Given the description of an element on the screen output the (x, y) to click on. 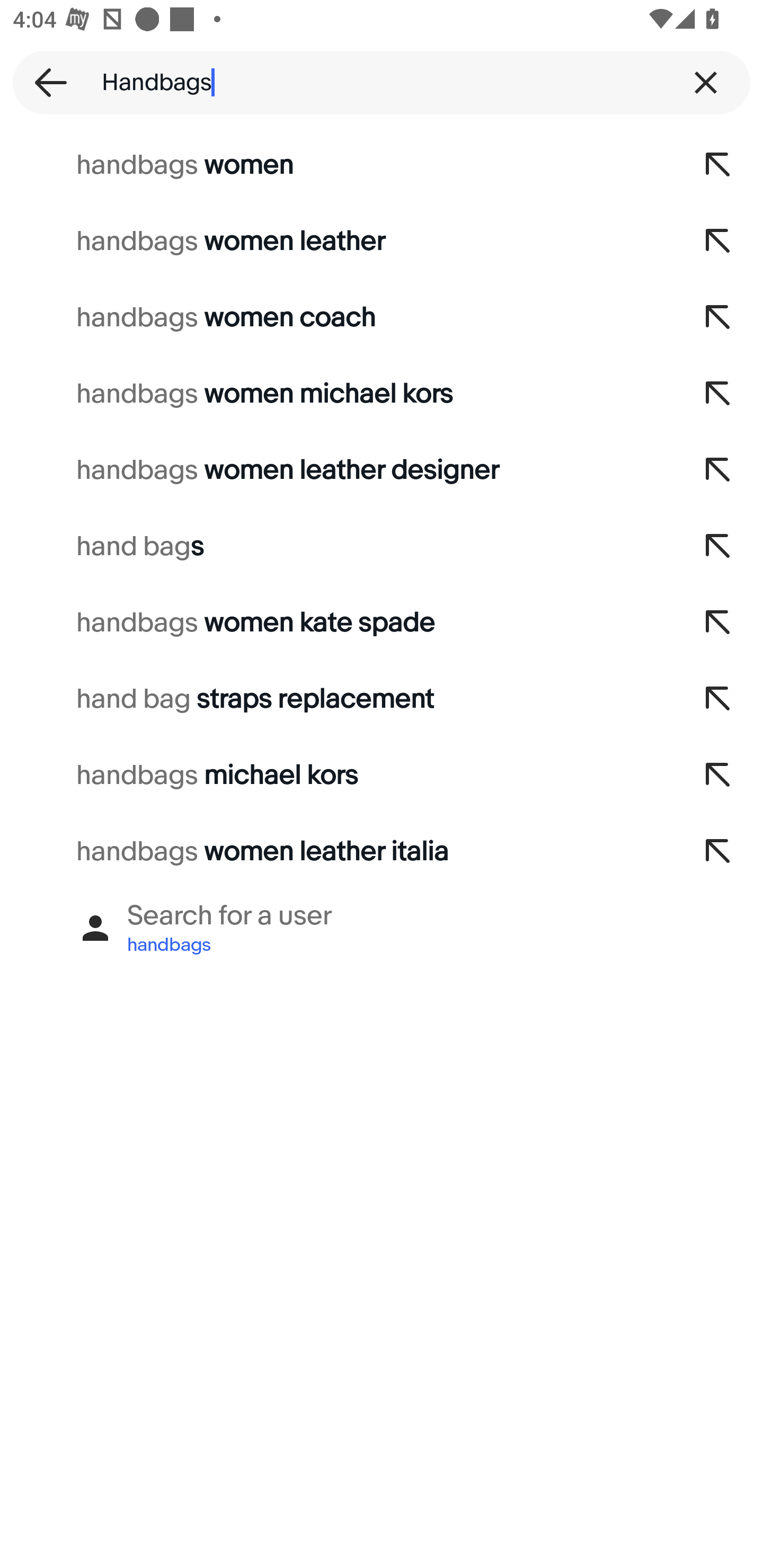
Back (44, 82)
Clear query (705, 82)
Handbags (381, 82)
handbags women (336, 165)
Add to search query,handbags women (718, 165)
handbags women leather (336, 241)
Add to search query,handbags women leather (718, 241)
handbags women coach (336, 317)
Add to search query,handbags women coach (718, 317)
handbags women michael kors (336, 393)
Add to search query,handbags women michael kors (718, 393)
handbags women leather designer (336, 470)
hand bags (336, 546)
Add to search query,hand bags (718, 546)
handbags women kate spade (336, 622)
Add to search query,handbags women kate spade (718, 622)
hand bag straps replacement (336, 698)
Add to search query,hand bag straps replacement (718, 698)
handbags michael kors (336, 774)
